Given the description of an element on the screen output the (x, y) to click on. 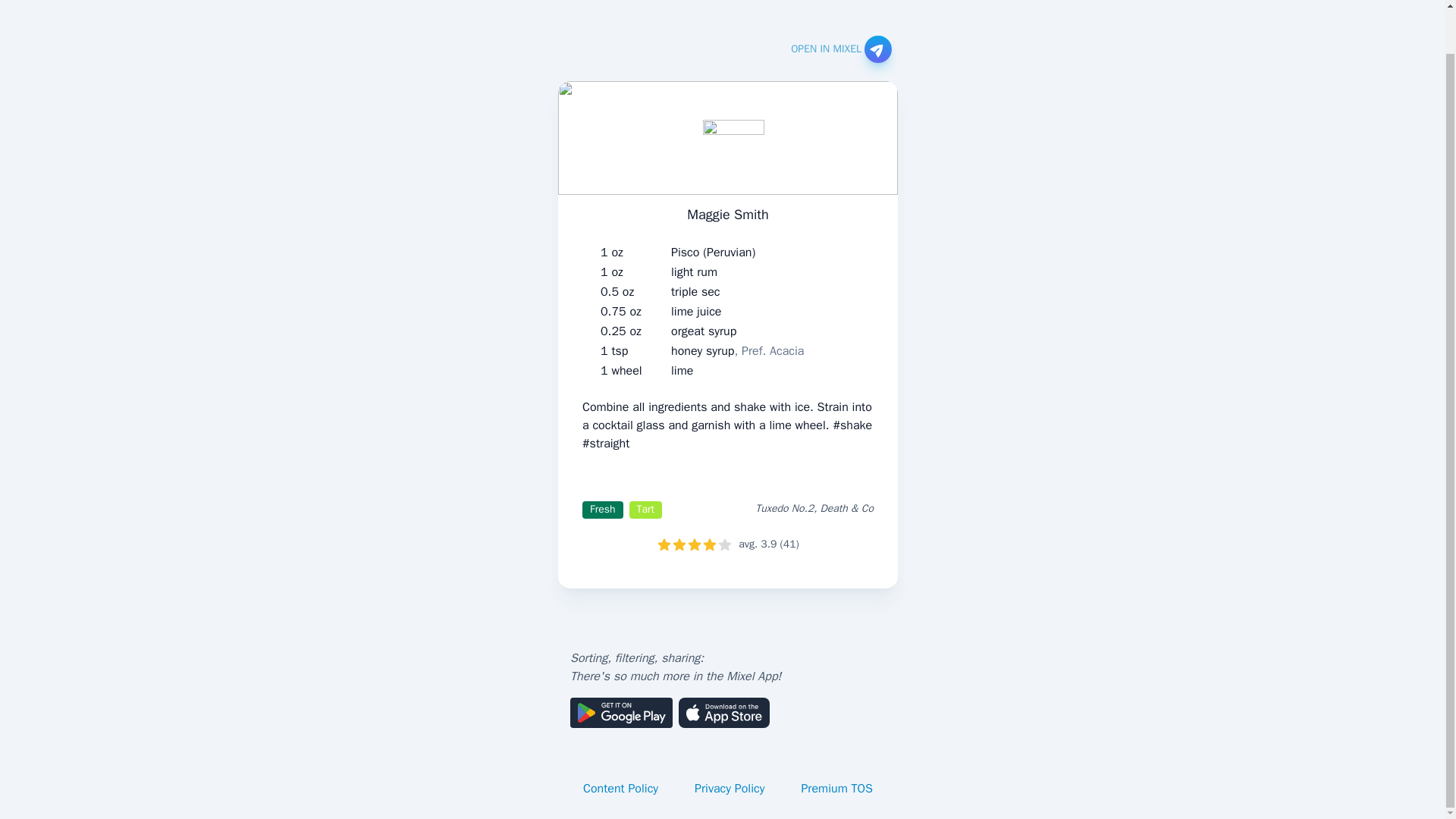
lime juice (695, 311)
lime (682, 370)
Content Policy (620, 788)
OPEN IN MIXEL (840, 49)
triple sec (695, 291)
light rum (694, 271)
Premium TOS (836, 788)
Privacy Policy (729, 788)
orgeat syrup (703, 331)
honey syrup, Pref. Acacia (737, 351)
